Given the description of an element on the screen output the (x, y) to click on. 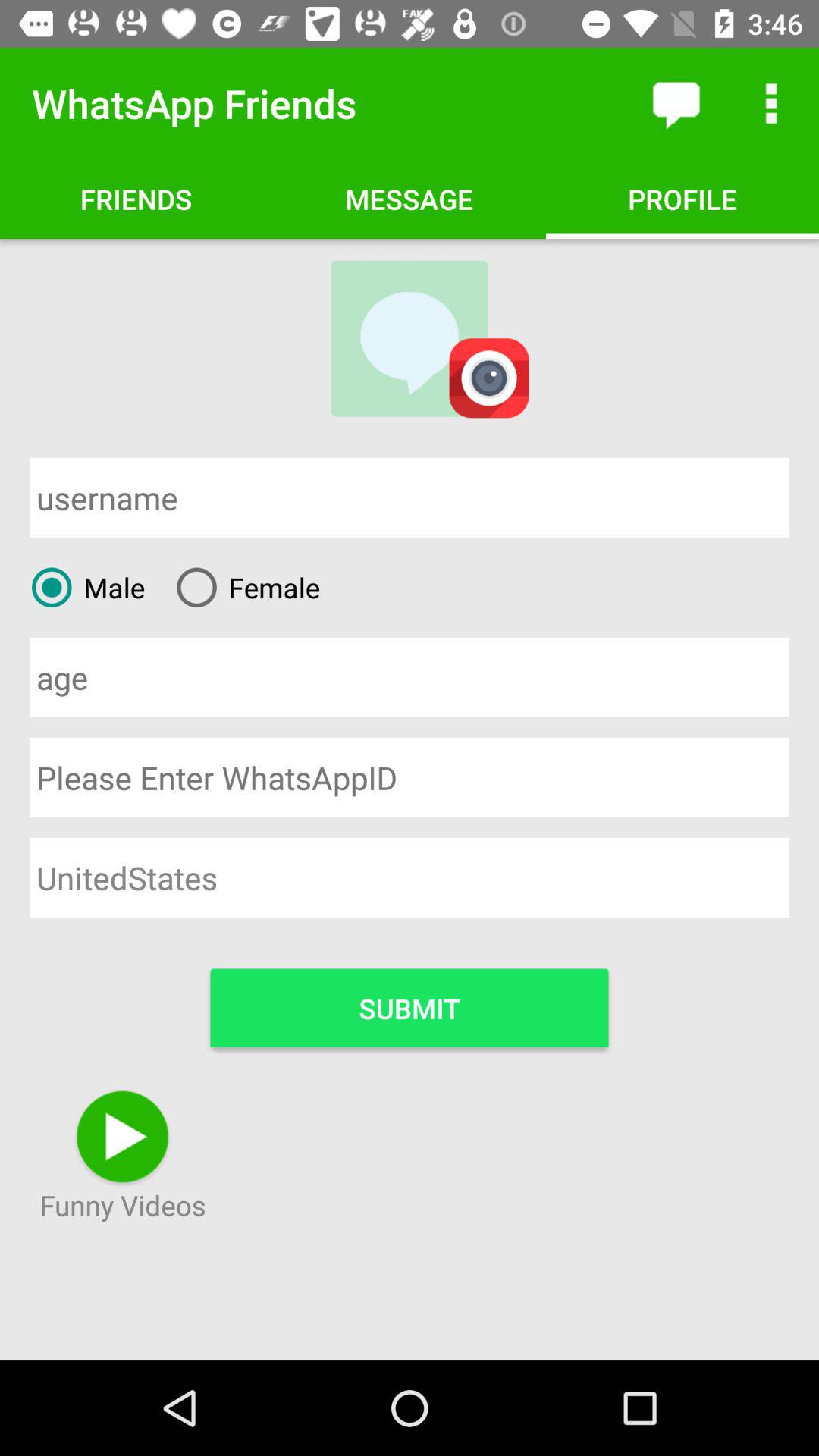
choose icon below the unitedstates icon (409, 1007)
